Given the description of an element on the screen output the (x, y) to click on. 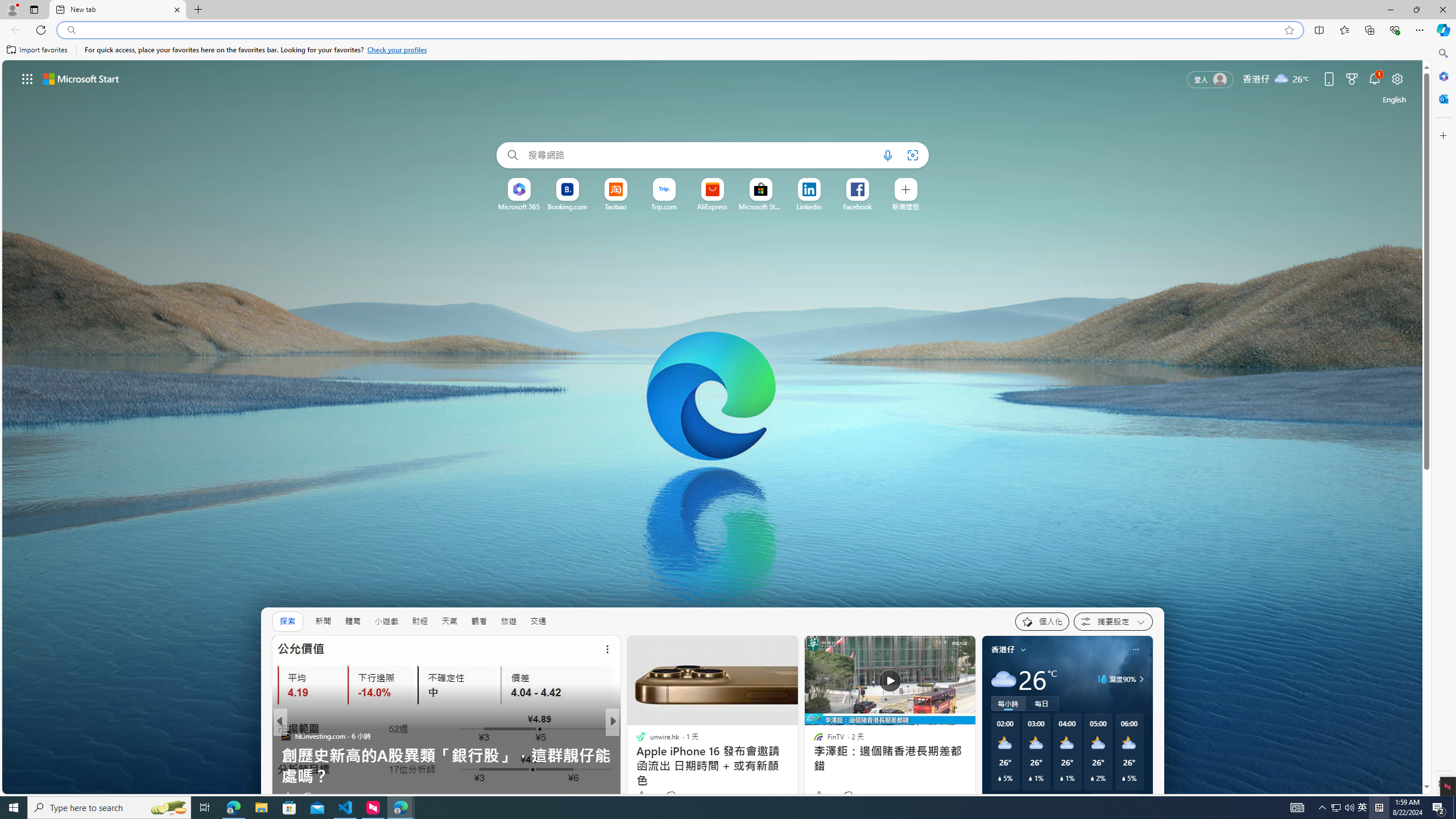
AliExpress (712, 206)
Favorites bar (715, 49)
FinTV (635, 755)
unwire.hk (635, 735)
